Given the description of an element on the screen output the (x, y) to click on. 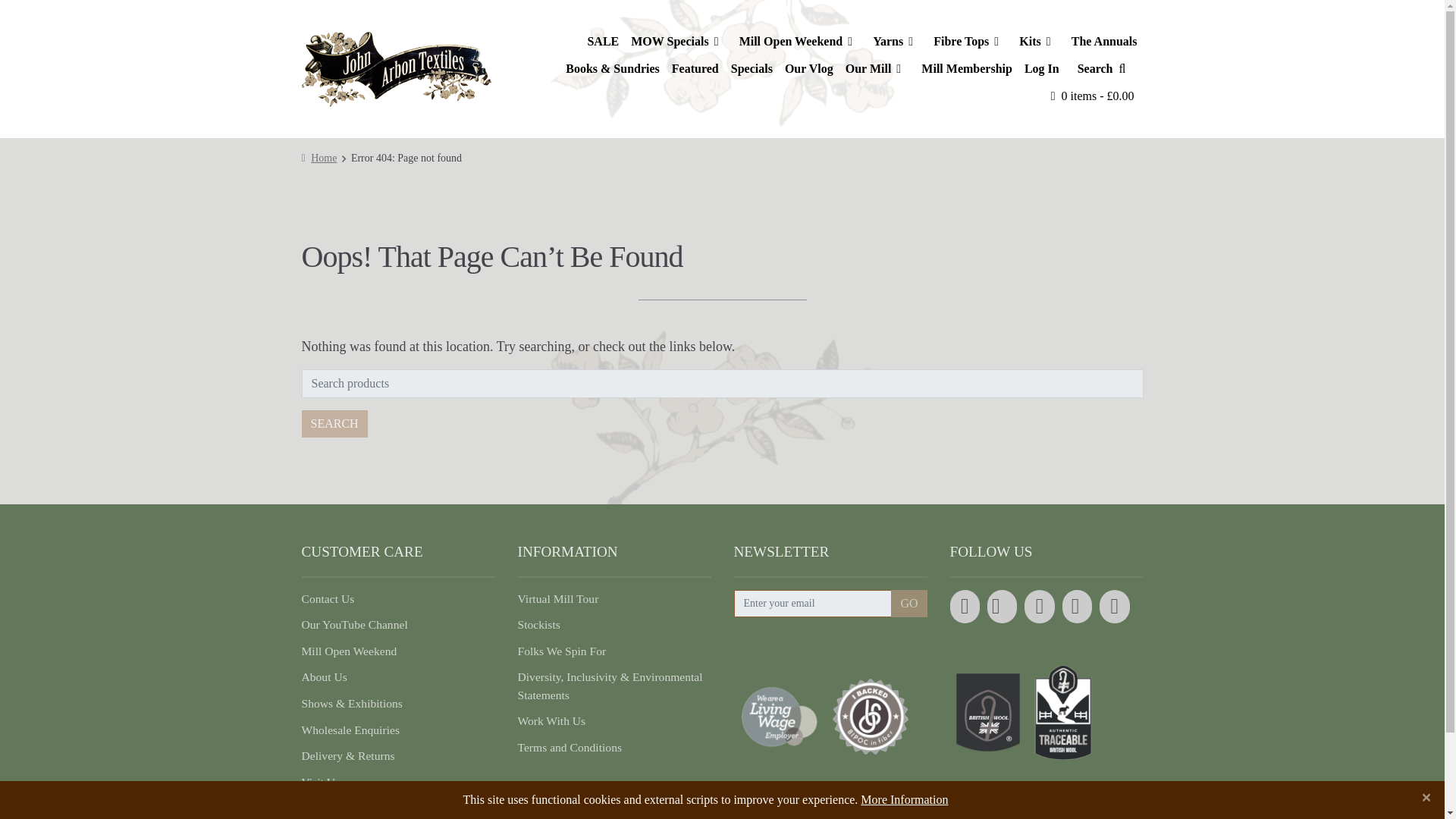
Yarns (896, 41)
View your shopping basket (1092, 95)
Mill Open Weekend (800, 41)
SALE (602, 41)
MOW Specials (678, 41)
Fibre Tops (970, 41)
